Given the description of an element on the screen output the (x, y) to click on. 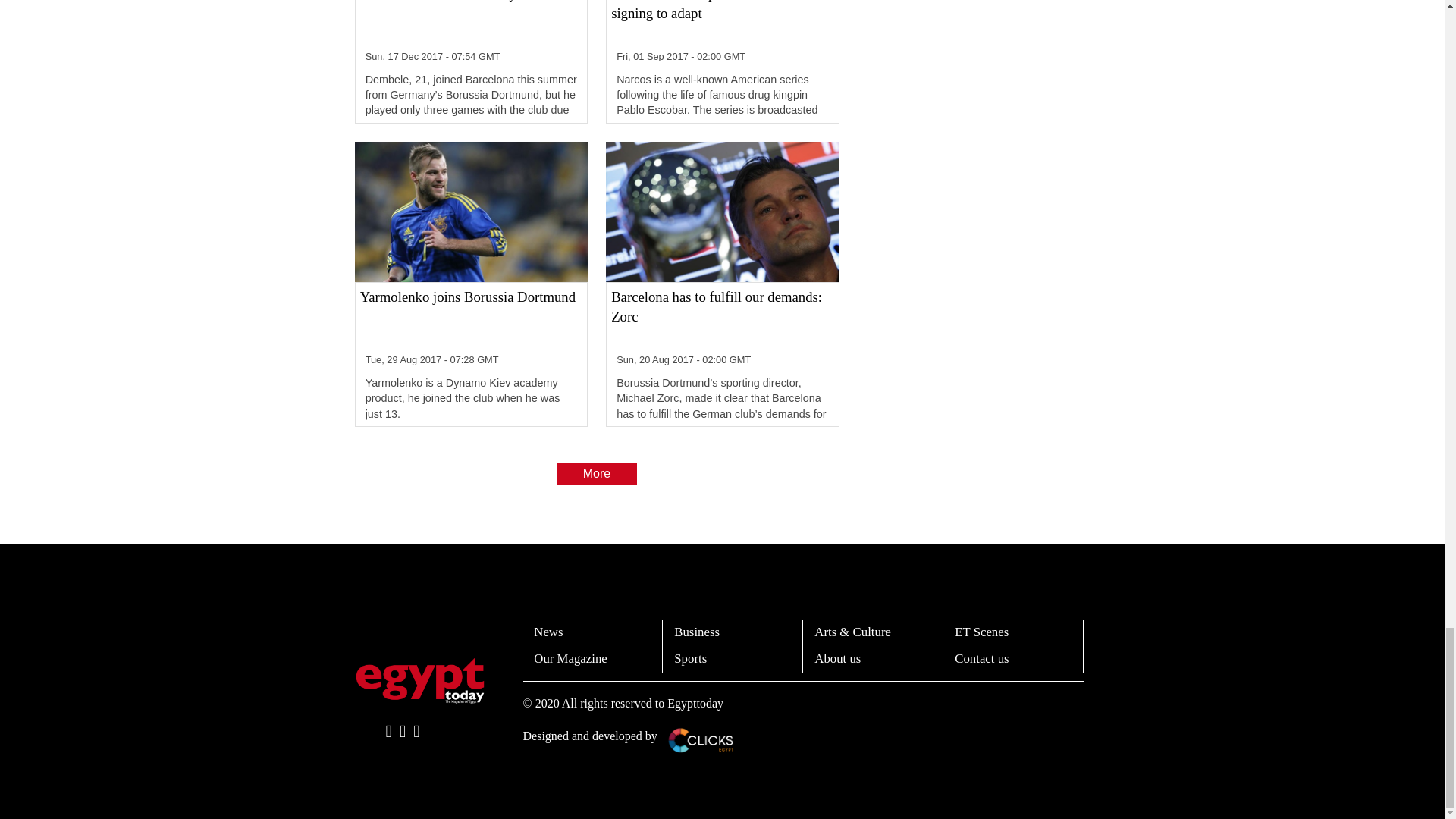
EgyptToday (419, 680)
